Given the description of an element on the screen output the (x, y) to click on. 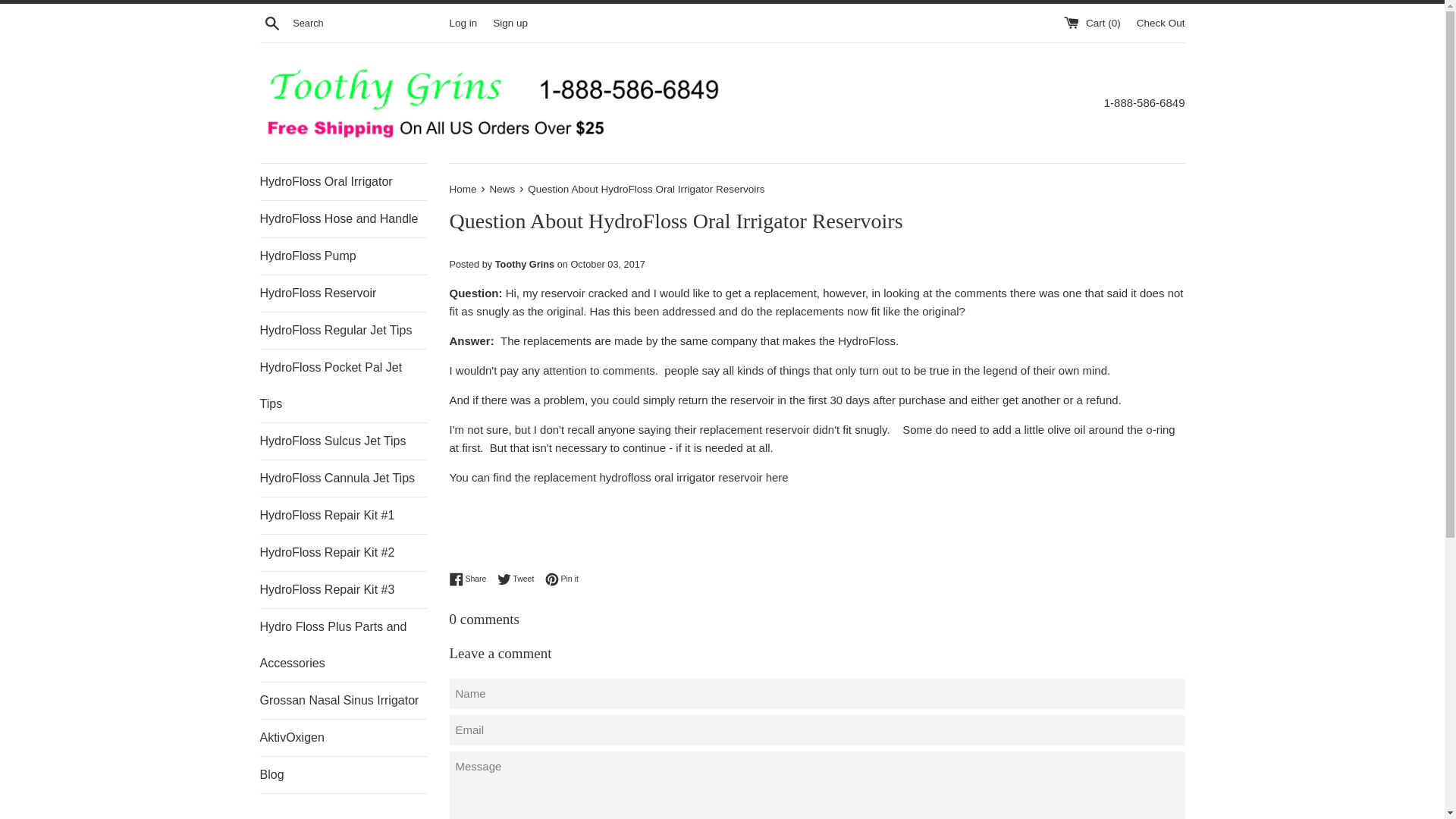
HydroFloss Sulcus Jet Tips (561, 579)
Pin on Pinterest (342, 441)
HydroFloss Hose and Handle (561, 579)
Grossan Nasal Sinus Irrigator (342, 218)
HydroFloss Oral Irrigator (342, 700)
HydroFloss Cannula Jet Tips (342, 181)
AktivOxigen (342, 478)
Check Out (342, 737)
HydroFloss Pump (1161, 21)
Share on Facebook (470, 579)
replacement hydrofloss oral irrigator reservoir here (342, 256)
reservoir cracked (519, 579)
